Given the description of an element on the screen output the (x, y) to click on. 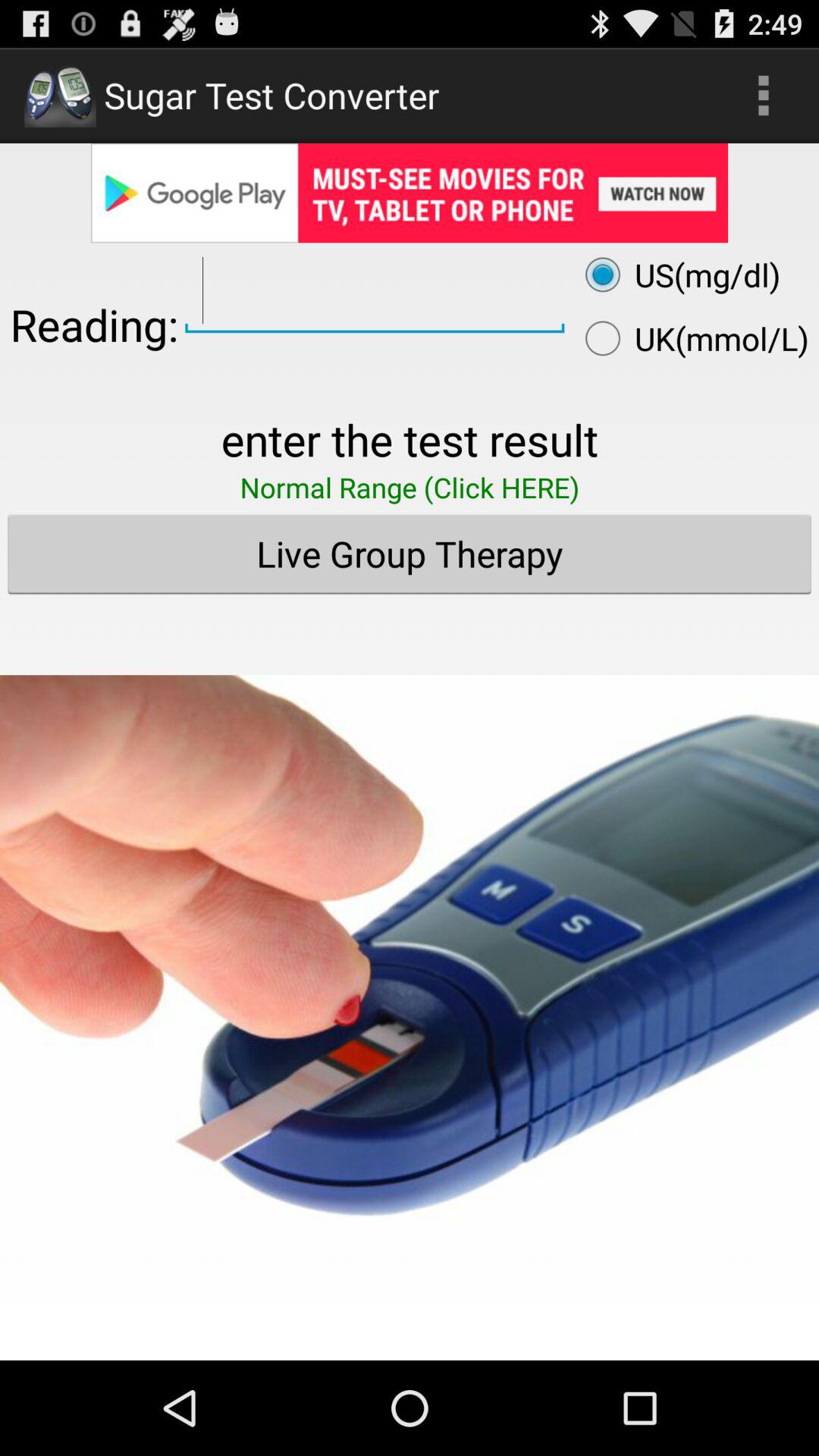
rearch (374, 290)
